Given the description of an element on the screen output the (x, y) to click on. 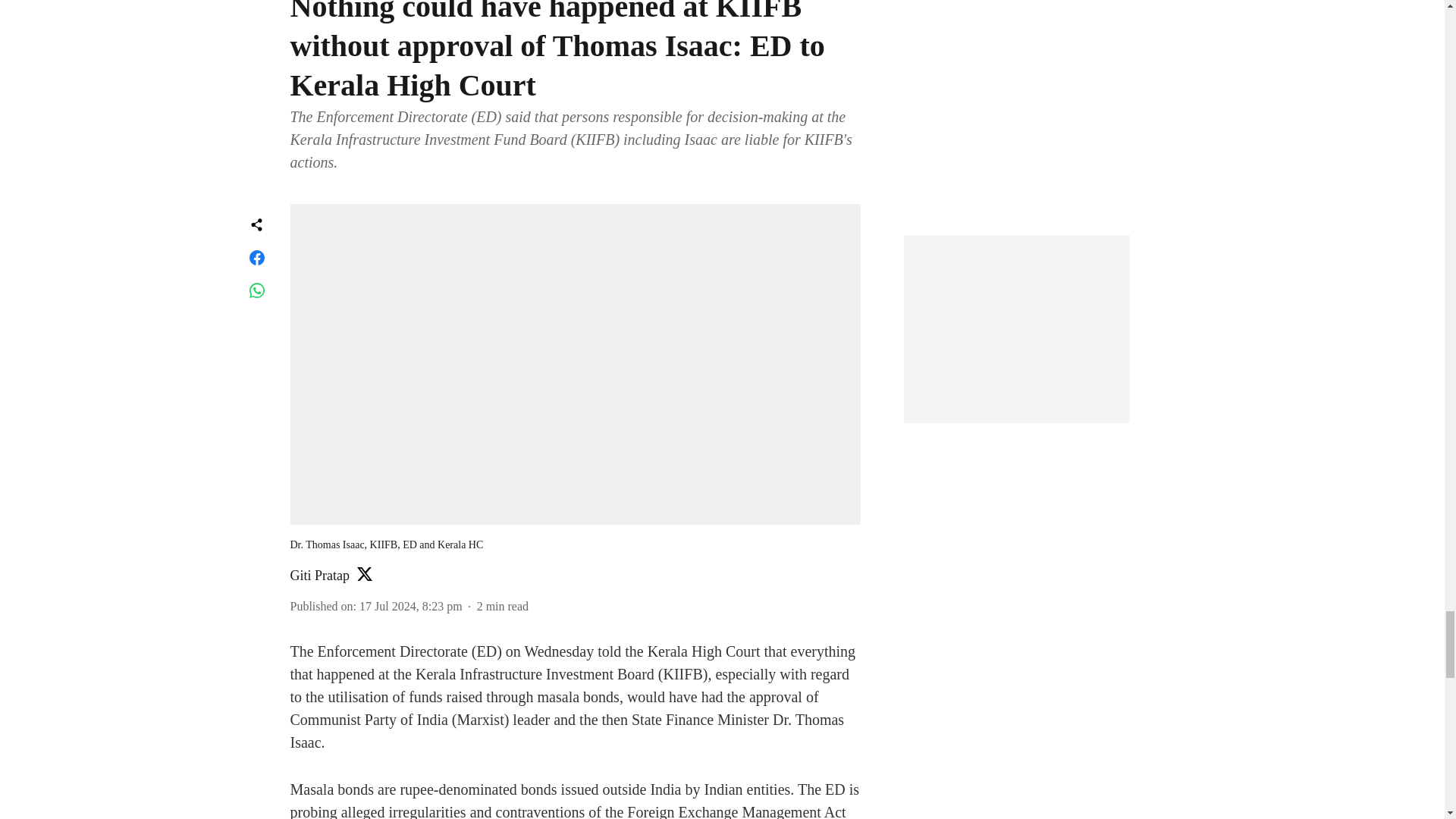
2024-07-17 12:23 (411, 605)
